Given the description of an element on the screen output the (x, y) to click on. 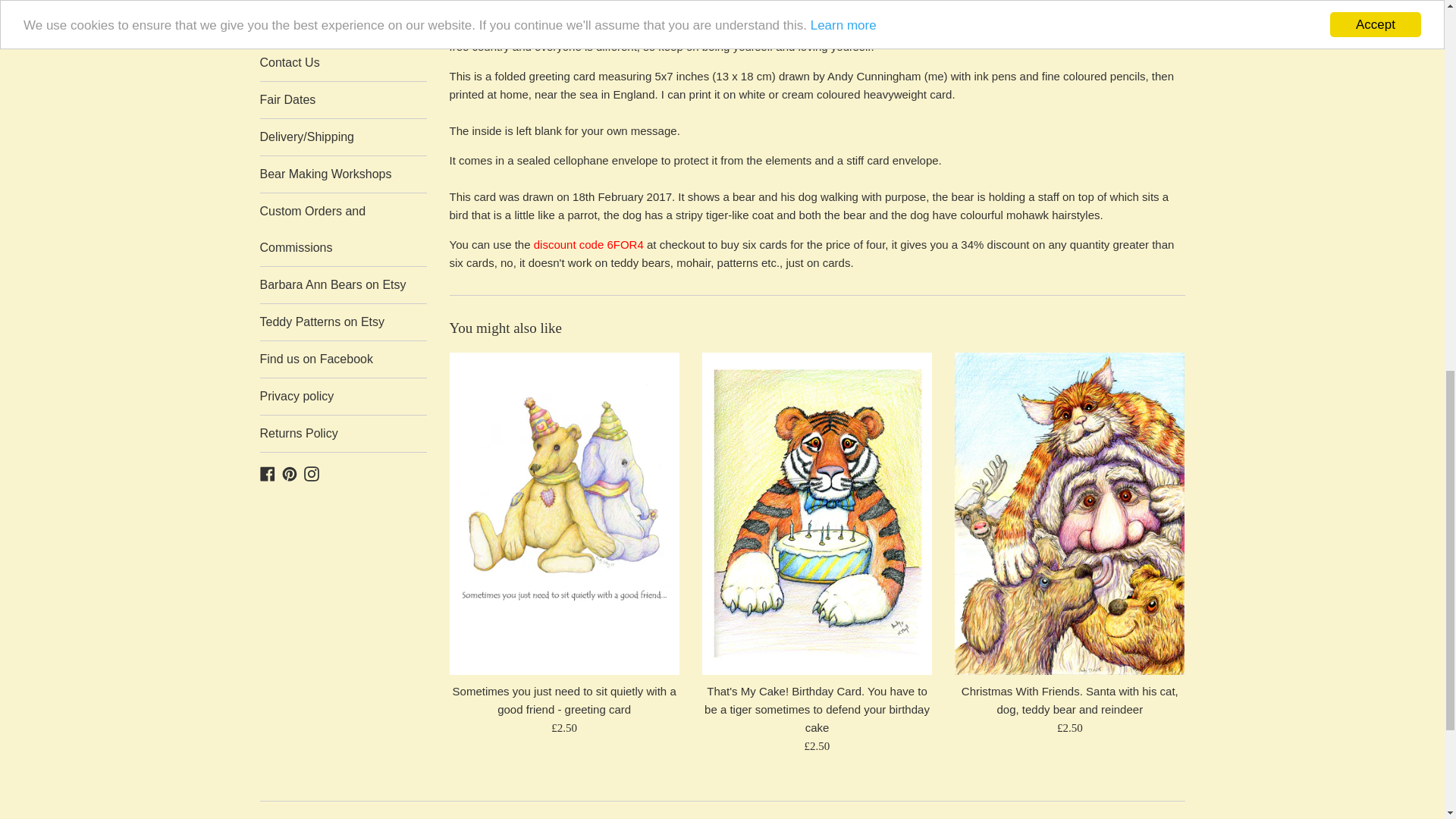
Teddy Bear Patterns (342, 3)
Custom Orders and Commissions (342, 229)
Contact Us (342, 63)
Barbara Ann Bears on Instagram (311, 472)
Barbara Ann Bears on Facebook (267, 472)
Fair Dates (342, 99)
Returns Policy (342, 433)
Find us on Facebook (342, 359)
Bear Making Workshops (342, 174)
Teddy Patterns on Etsy (342, 321)
Privacy policy (342, 396)
Barbara Ann Bears on Pinterest (289, 472)
Barbara Ann Bears on Etsy (342, 284)
Teddy Bear Kits (342, 25)
